Given the description of an element on the screen output the (x, y) to click on. 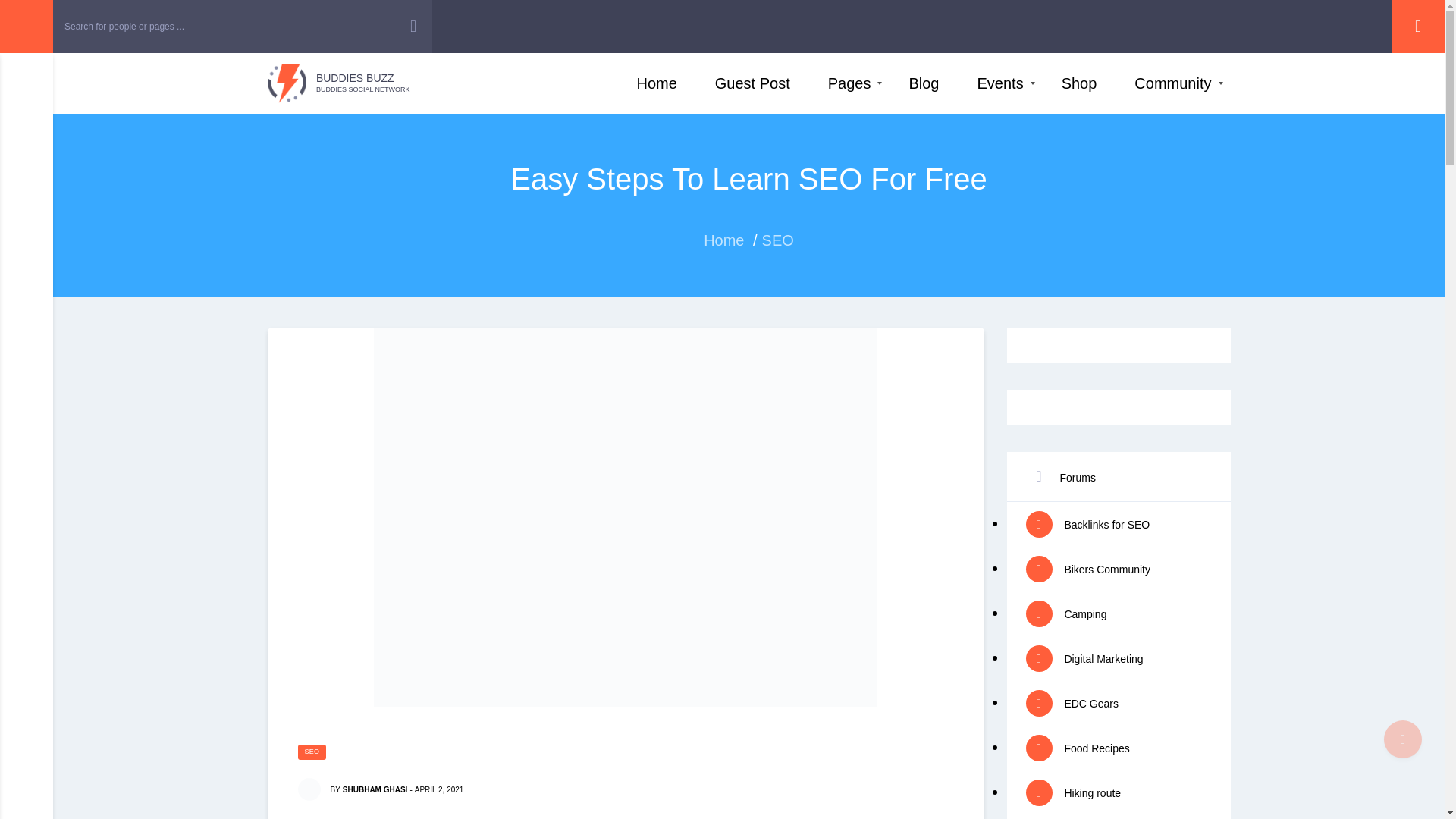
Community (1172, 83)
Blog (337, 83)
All posts from SEO (923, 83)
Events (311, 752)
Shop (1000, 83)
Pages (1079, 83)
Home (849, 83)
Guest Post (656, 83)
